Given the description of an element on the screen output the (x, y) to click on. 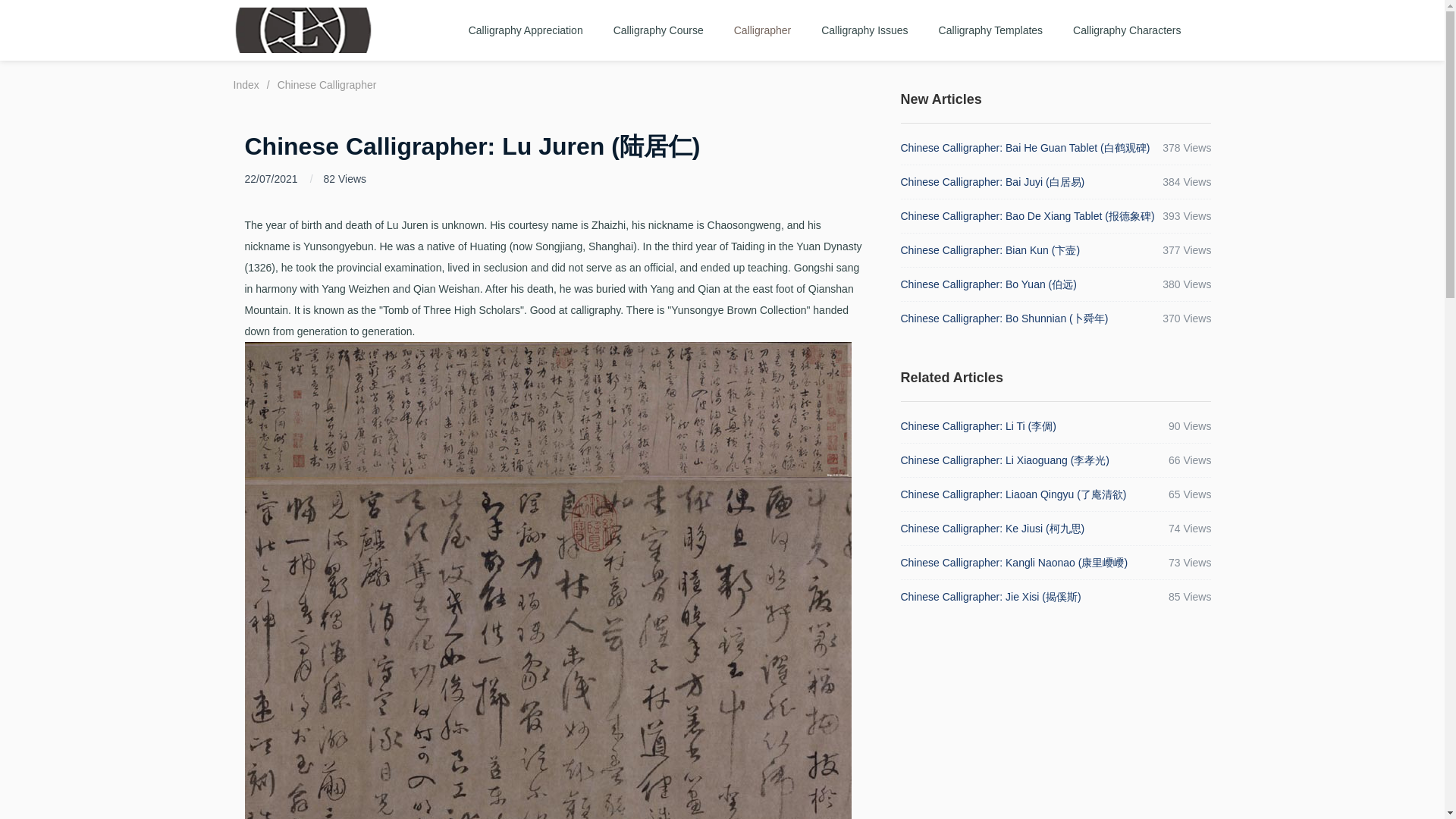
Calligraphy Course (658, 30)
Calligraphy Characters (1126, 30)
Calligraphy Templates (990, 30)
Index (245, 84)
Chinese Calligrapher (327, 84)
Calligraphy Issues (864, 30)
Calligraphy Appreciation (525, 30)
Calligrapher (762, 30)
